Given the description of an element on the screen output the (x, y) to click on. 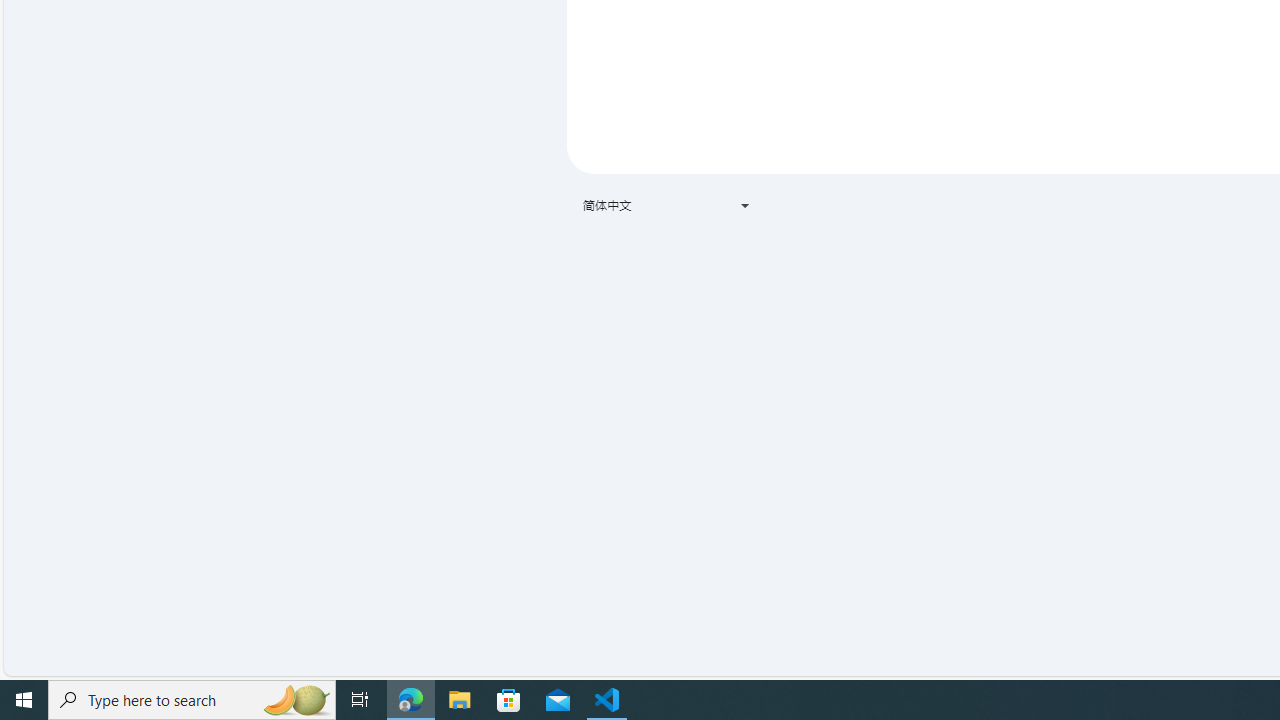
Class: VfPpkd-t08AT-Bz112c-Bd00G (744, 205)
